Given the description of an element on the screen output the (x, y) to click on. 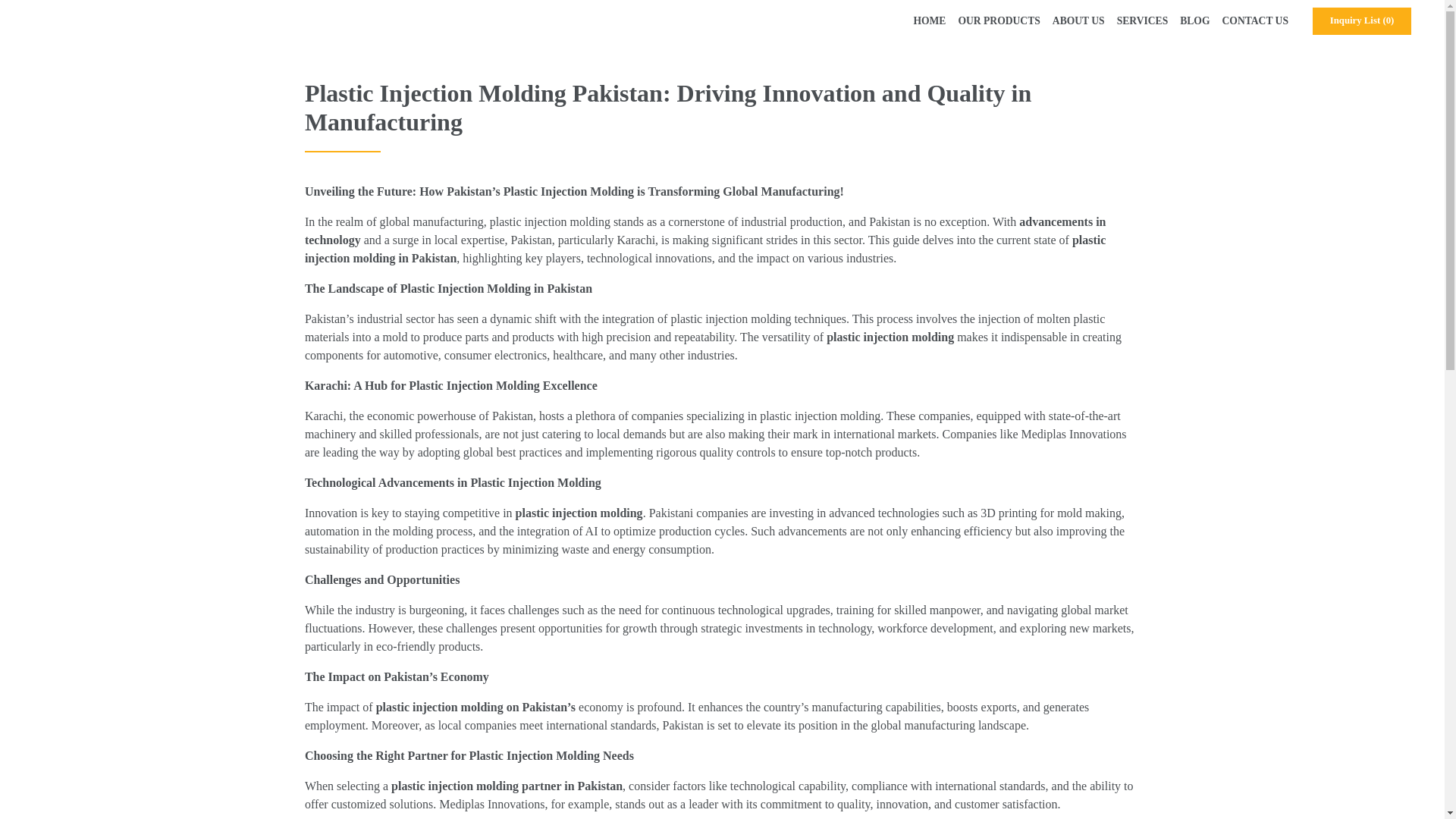
plastic injection molding (729, 318)
ABOUT US (1078, 21)
SERVICES (1142, 21)
plastic injection molding in Pakistan (705, 248)
BLOG (1194, 21)
OUR PRODUCTS (998, 21)
advancements in technology (705, 230)
HOME (929, 21)
CONTACT US (1255, 21)
